Given the description of an element on the screen output the (x, y) to click on. 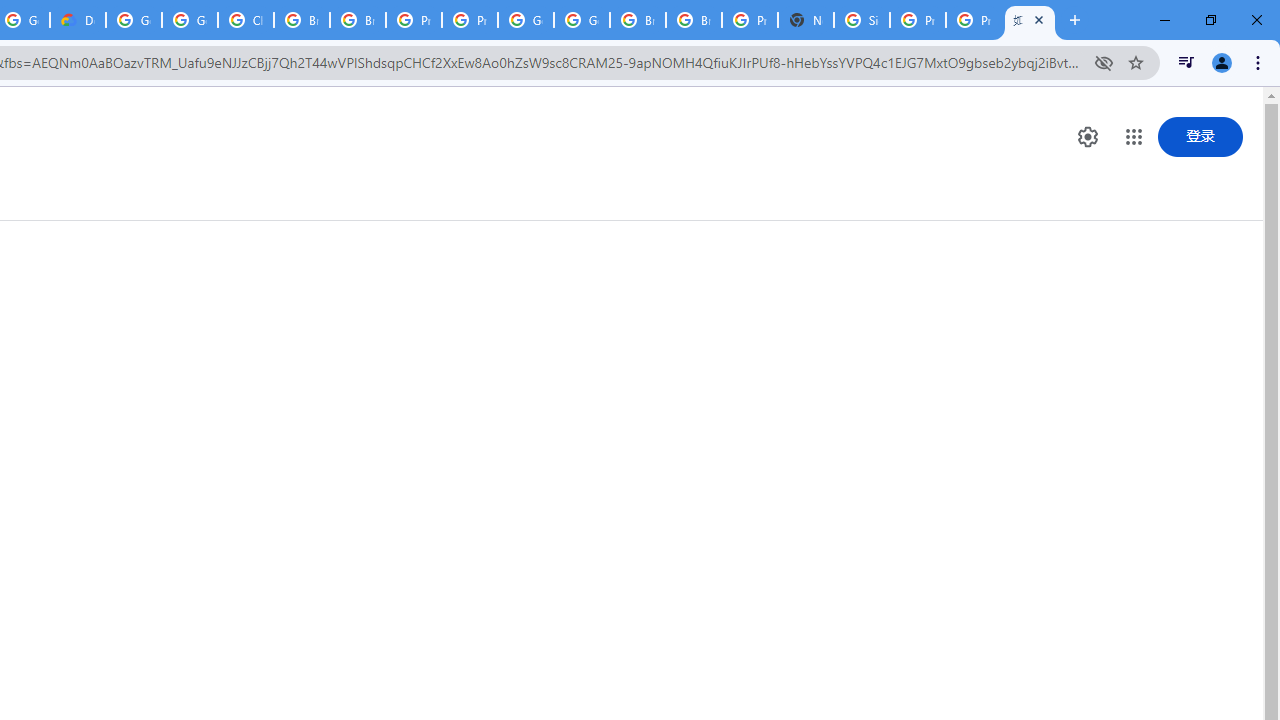
Google Cloud Platform (134, 20)
Google Cloud Platform (525, 20)
Sign in - Google Accounts (861, 20)
Google Cloud Platform (582, 20)
